Given the description of an element on the screen output the (x, y) to click on. 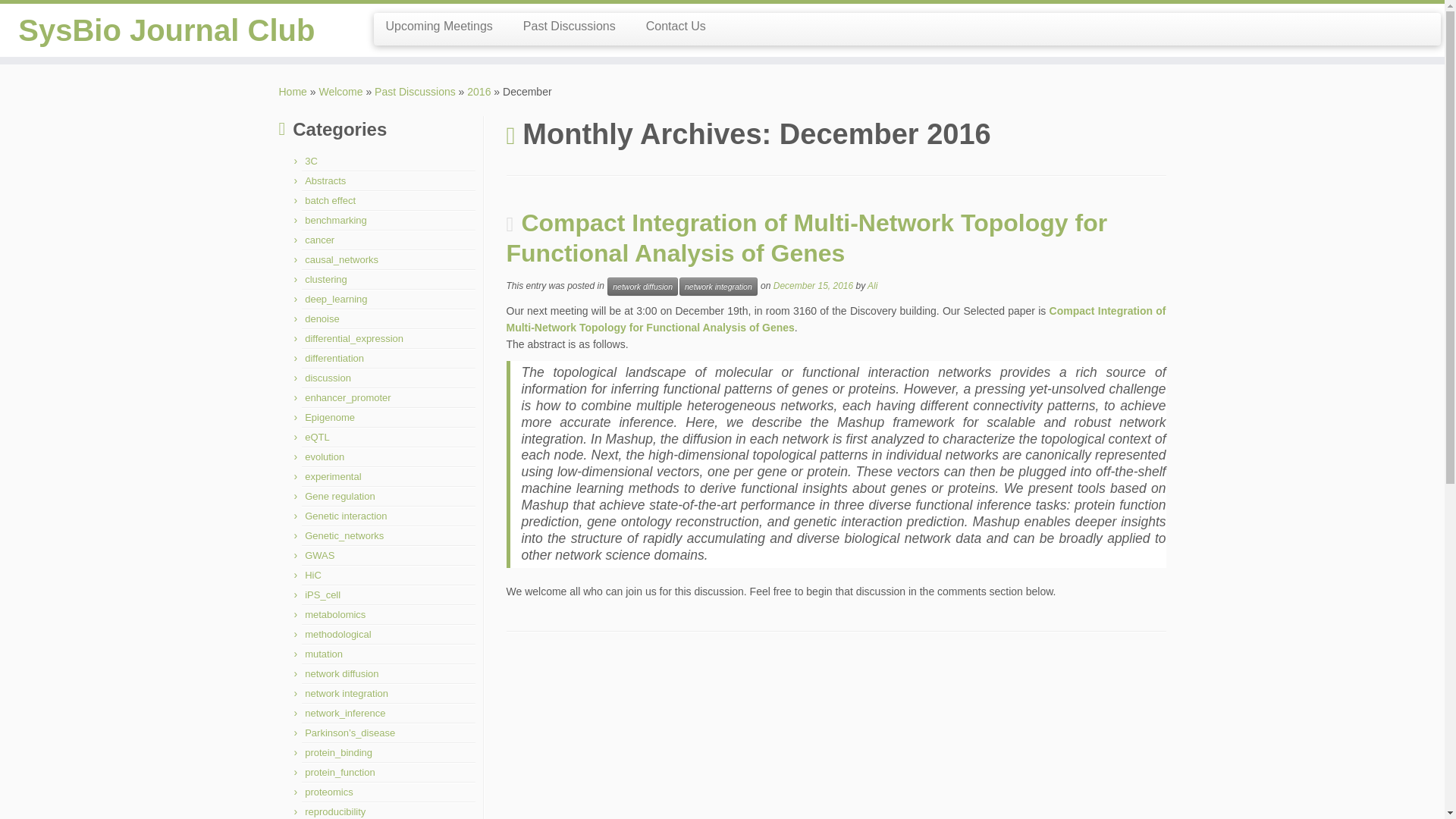
metabolomics (334, 614)
Upcoming Meetings (443, 26)
clustering (325, 279)
methodological (337, 633)
experimental (332, 476)
Past Discussions (414, 91)
SysBio Journal Club (293, 91)
SysBio Journal Club (166, 30)
eQTL (317, 437)
View all posts by Ali (872, 285)
